Given the description of an element on the screen output the (x, y) to click on. 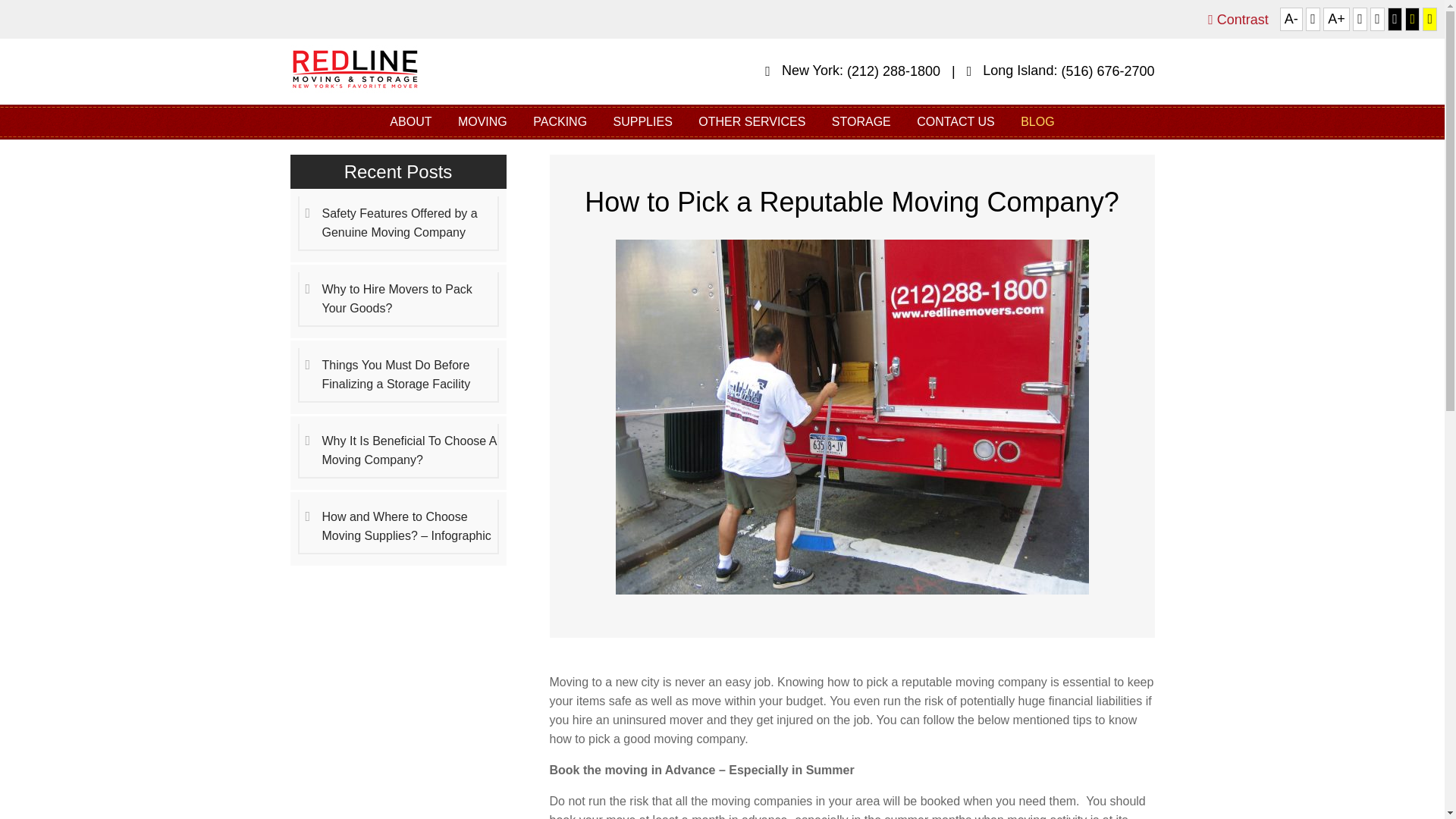
PACKING (559, 121)
Permanent link to Why to Hire Movers to Pack Your Goods? (397, 298)
New York phone number (893, 71)
SUPPLIES (643, 121)
MOVING (482, 121)
OTHER SERVICES (751, 121)
ABOUT (410, 121)
Long Island phone number (1107, 71)
STORAGE (861, 121)
A- (1291, 19)
CONTACT US (955, 121)
